Given the description of an element on the screen output the (x, y) to click on. 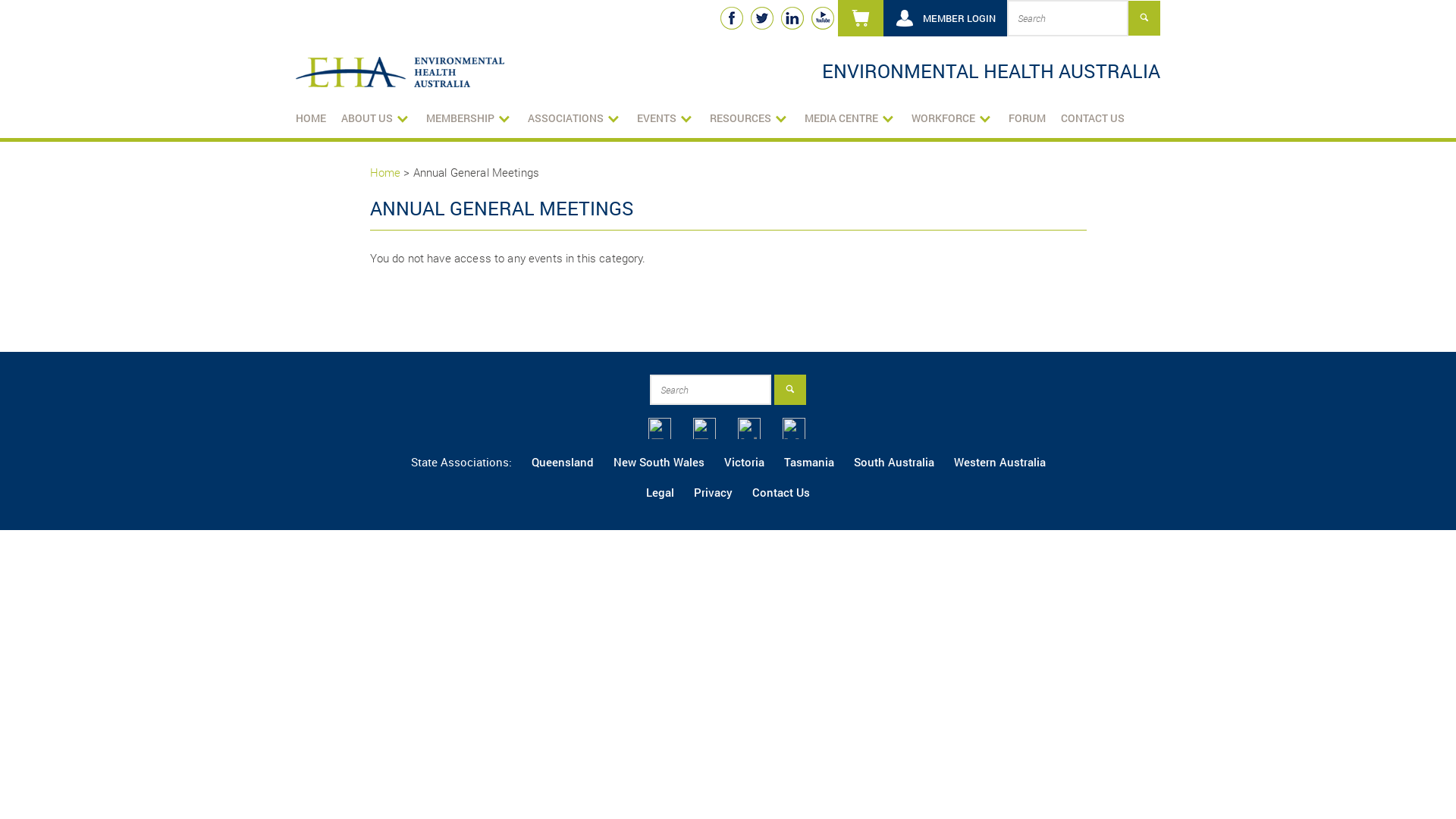
EVENTS Element type: text (665, 117)
Facebook Element type: hover (659, 427)
Privacy Element type: text (712, 491)
Victoria Element type: text (743, 461)
Queensland Element type: text (561, 461)
MEMBERSHIP Element type: text (469, 117)
LinkedIn Element type: hover (792, 17)
Contact Us Element type: text (780, 491)
YouTube Element type: hover (822, 17)
YouTube Element type: hover (793, 427)
CONTACT US Element type: text (1092, 117)
HOME Element type: text (310, 117)
FORUM Element type: text (1026, 117)
RESOURCES Element type: text (749, 117)
MEDIA CENTRE Element type: text (850, 117)
LinkedIn Element type: hover (748, 427)
ASSOCIATIONS Element type: text (574, 117)
South Australia Element type: text (893, 461)
Tasmania Element type: text (809, 461)
ABOUT US Element type: text (376, 117)
Legal Element type: text (660, 491)
WORKFORCE Element type: text (952, 117)
Twitter Element type: hover (704, 427)
Facebook Element type: hover (731, 17)
Twitter Element type: hover (761, 17)
Home Element type: text (385, 171)
New South Wales Element type: text (657, 461)
MEMBER LOGIN Element type: text (945, 18)
Western Australia Element type: text (999, 461)
